Given the description of an element on the screen output the (x, y) to click on. 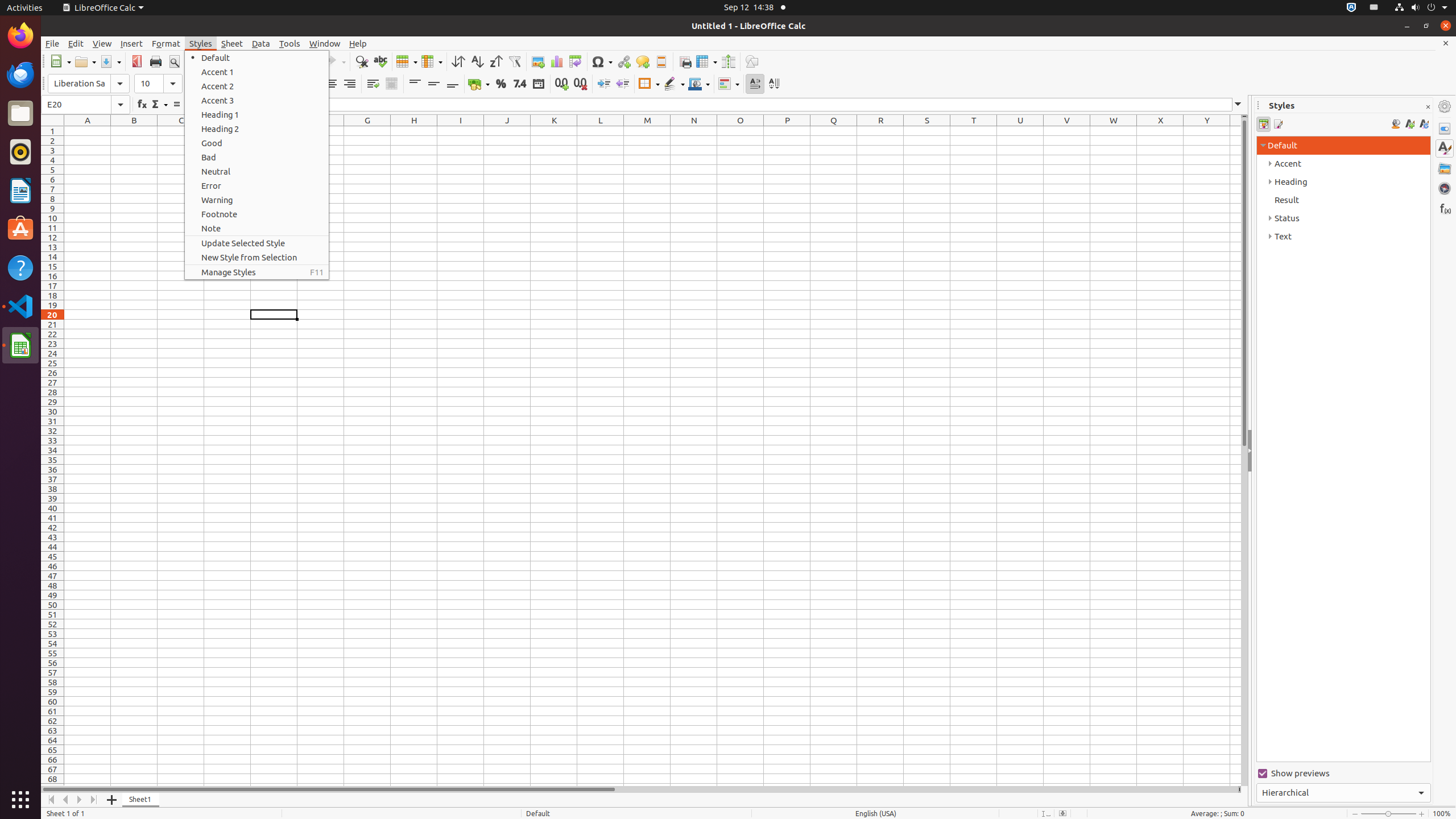
U1 Element type: table-cell (1020, 130)
Chart Element type: push-button (556, 61)
X1 Element type: table-cell (1159, 130)
